Given the description of an element on the screen output the (x, y) to click on. 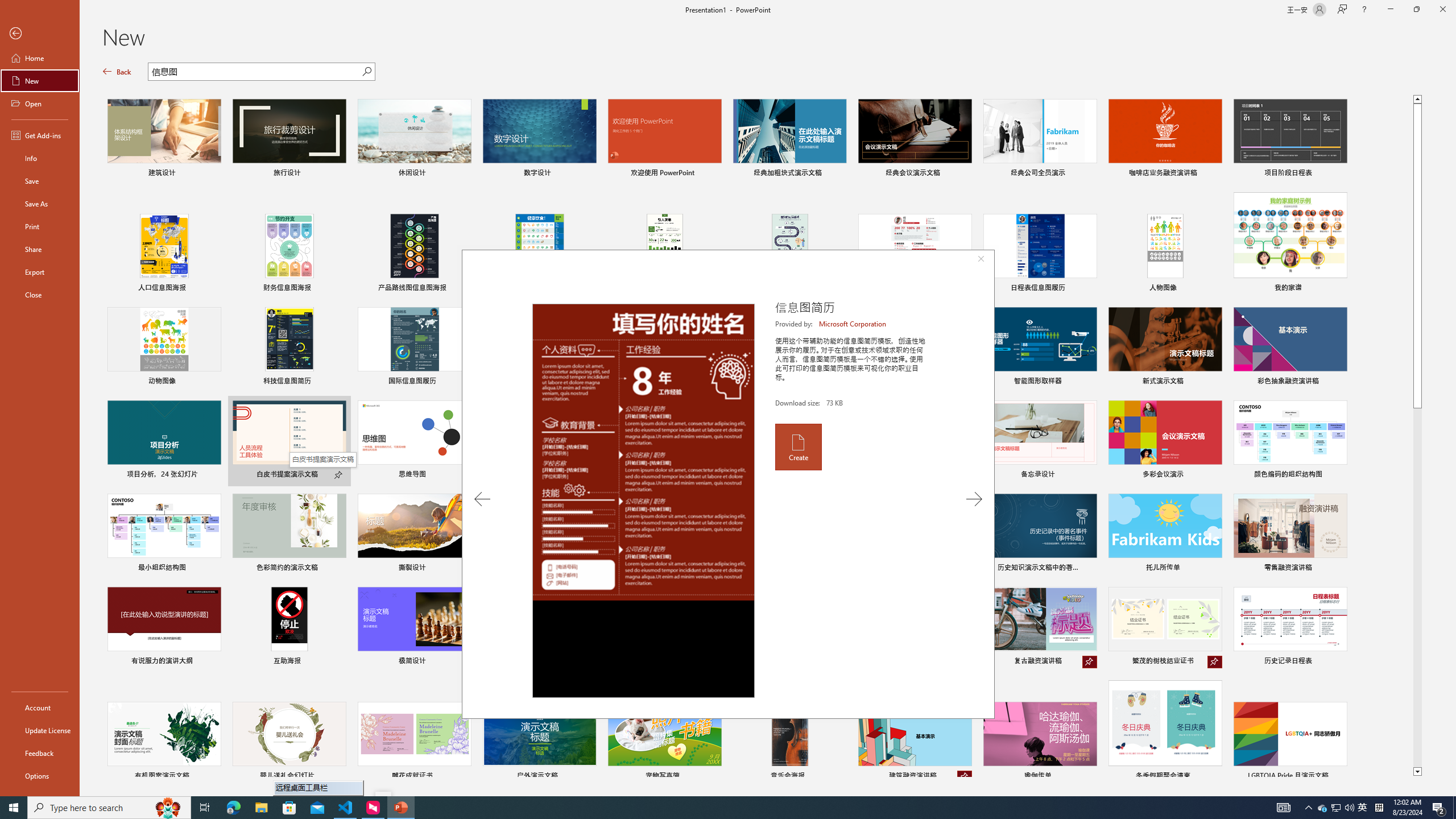
Pin to list (1339, 776)
Search for online templates and themes (254, 73)
Export (40, 271)
